Given the description of an element on the screen output the (x, y) to click on. 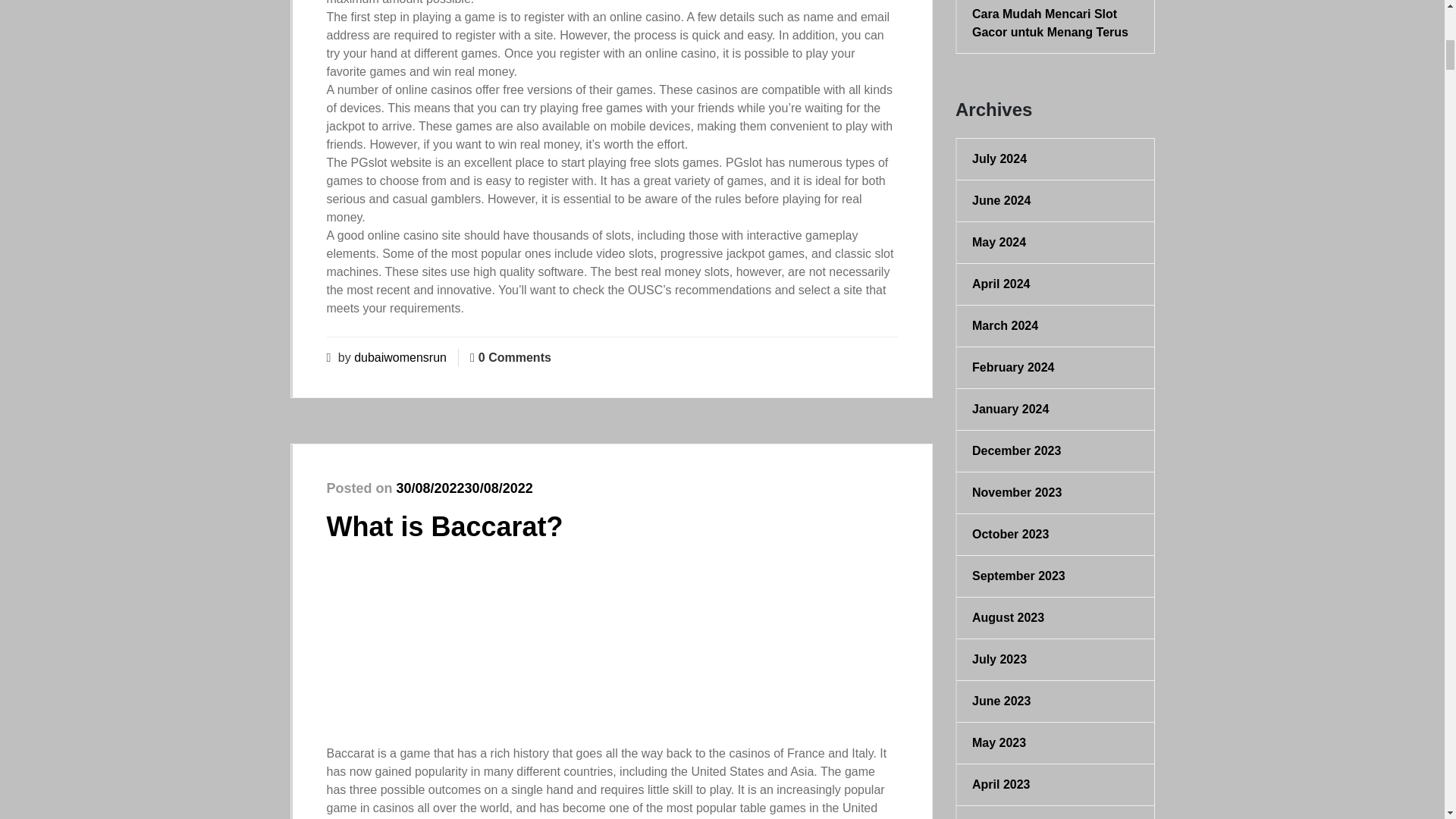
What is Baccarat? (444, 526)
dubaiwomensrun (399, 357)
